Given the description of an element on the screen output the (x, y) to click on. 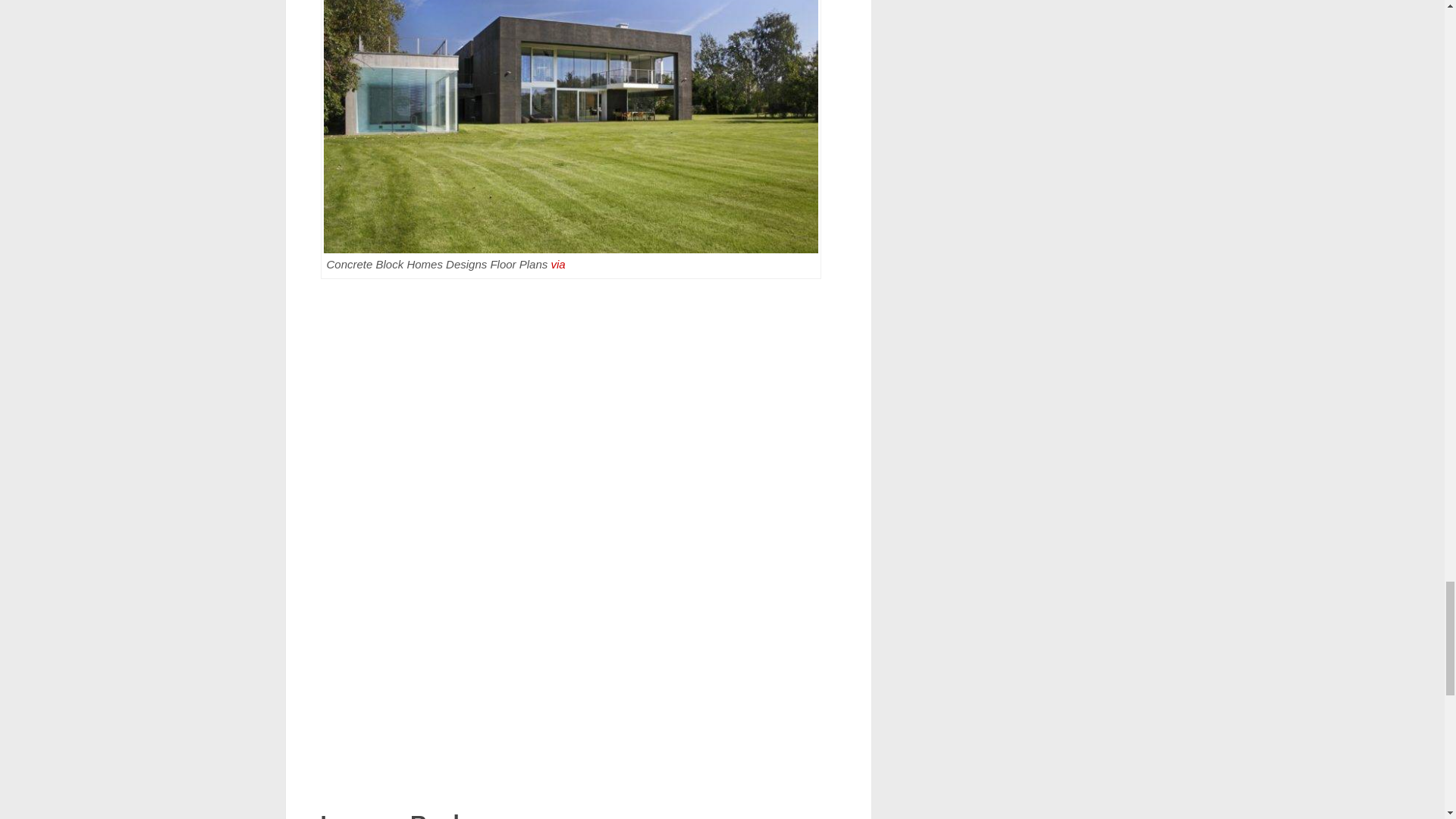
via (557, 264)
